Given the description of an element on the screen output the (x, y) to click on. 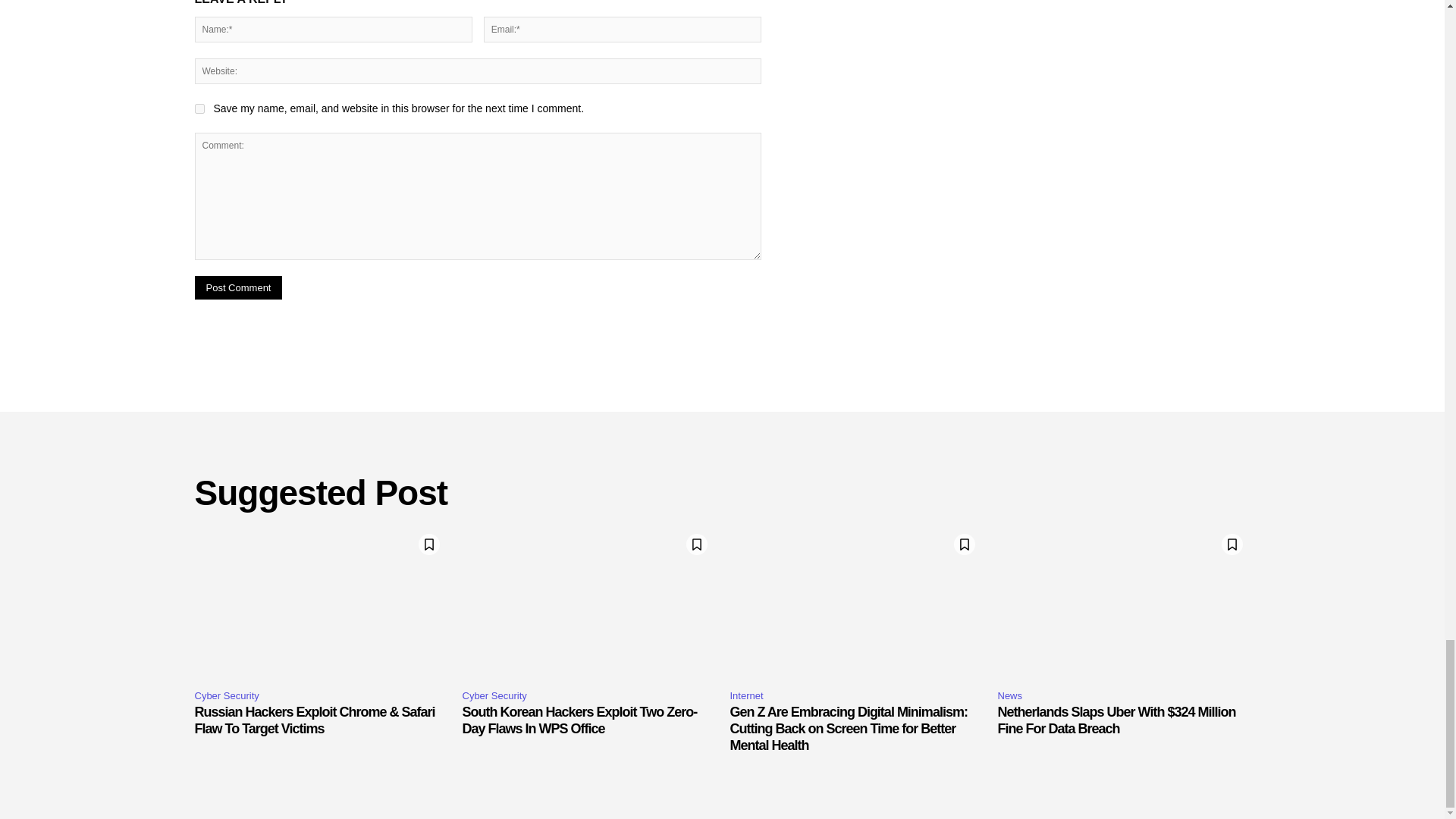
Post Comment (237, 287)
yes (198, 108)
Post Comment (237, 287)
